Given the description of an element on the screen output the (x, y) to click on. 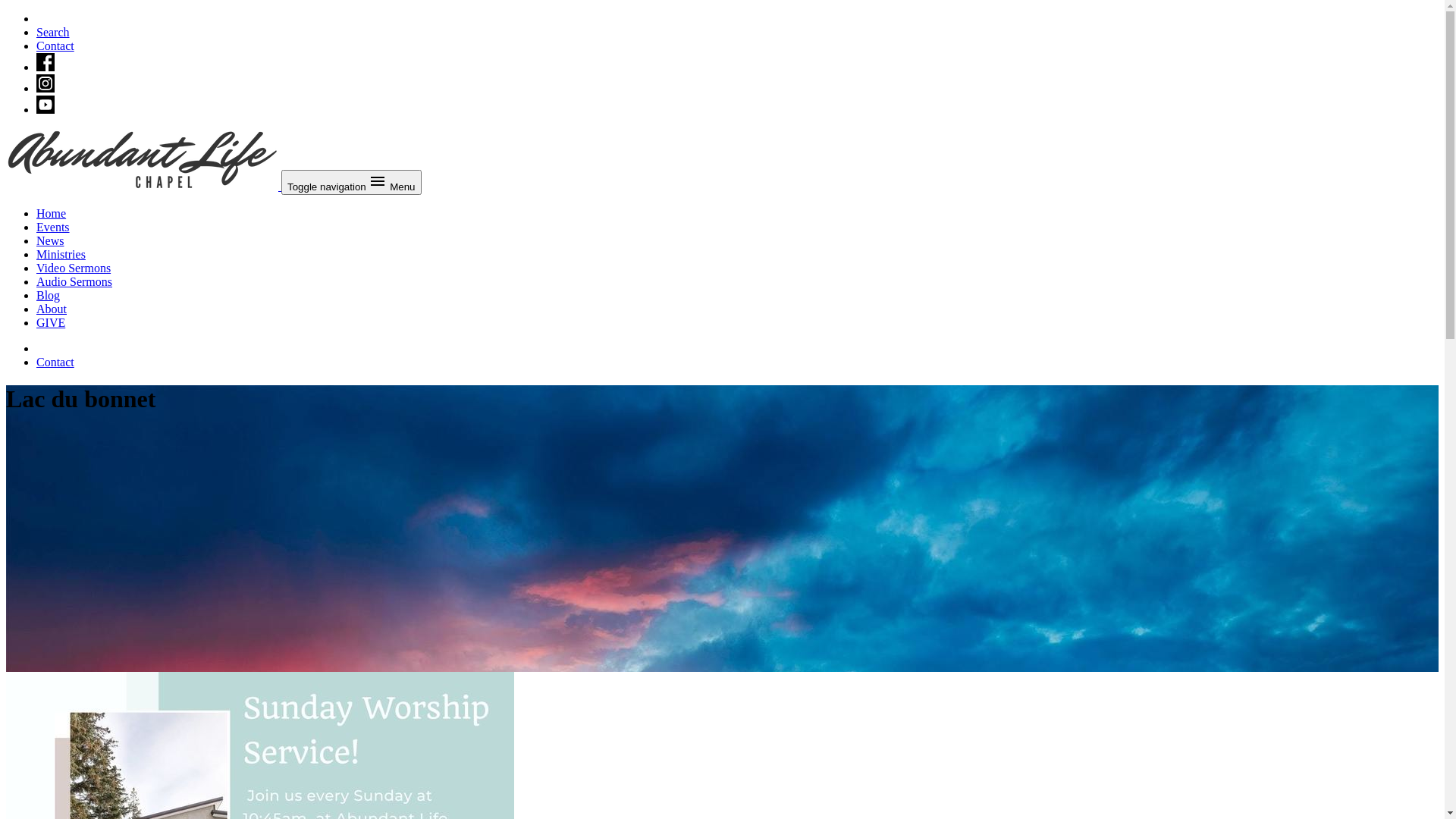
Blog Element type: text (47, 294)
Search Element type: text (52, 31)
Events Element type: text (52, 226)
News Element type: text (49, 240)
GIVE Element type: text (50, 322)
Contact Element type: text (55, 361)
Video Sermons Element type: text (73, 267)
Home Element type: text (50, 213)
About Element type: text (51, 308)
Audio Sermons Element type: text (74, 281)
Toggle navigation Menu Element type: text (351, 181)
Contact Element type: text (55, 45)
Ministries Element type: text (60, 253)
